Given the description of an element on the screen output the (x, y) to click on. 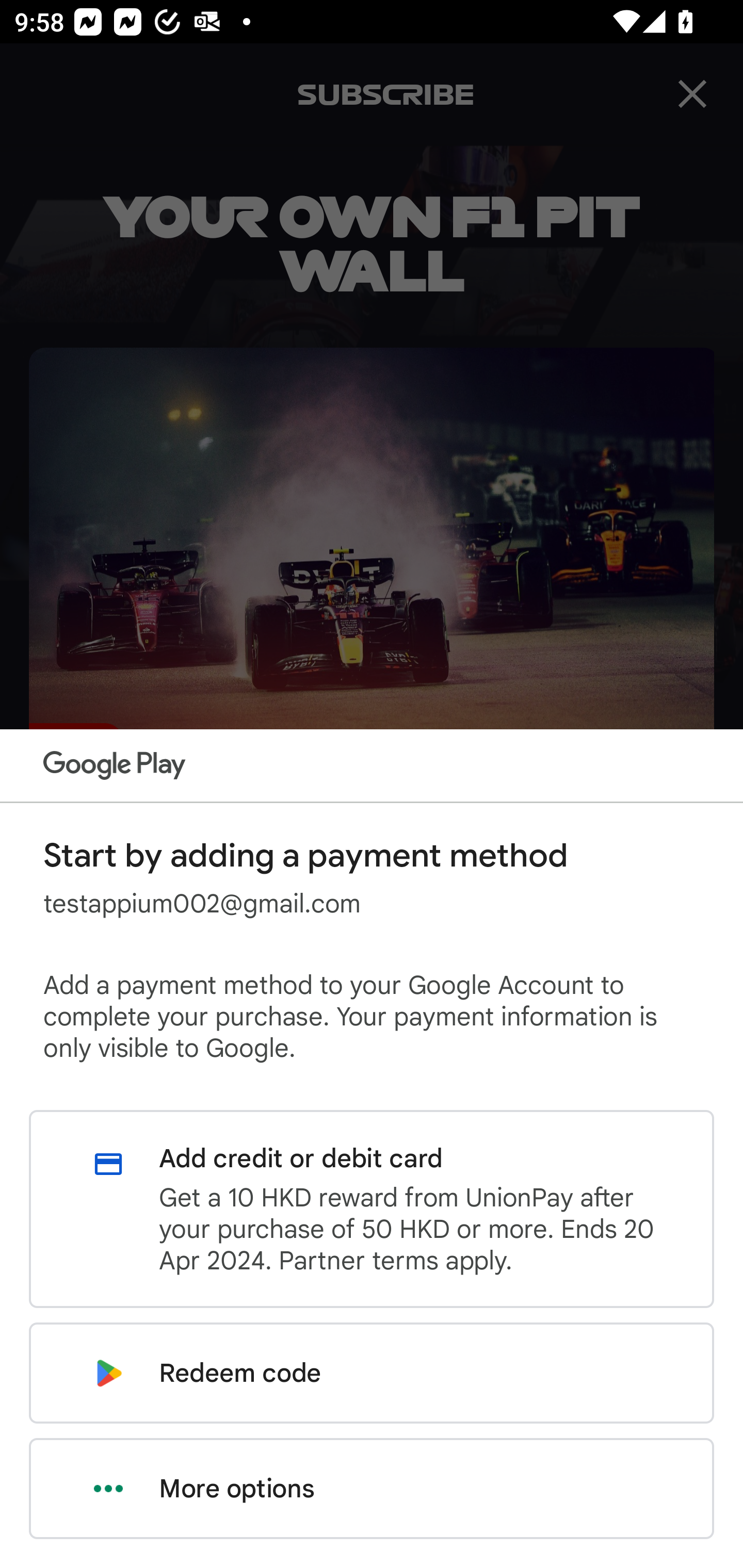
Redeem code (371, 1372)
More options (371, 1488)
